Given the description of an element on the screen output the (x, y) to click on. 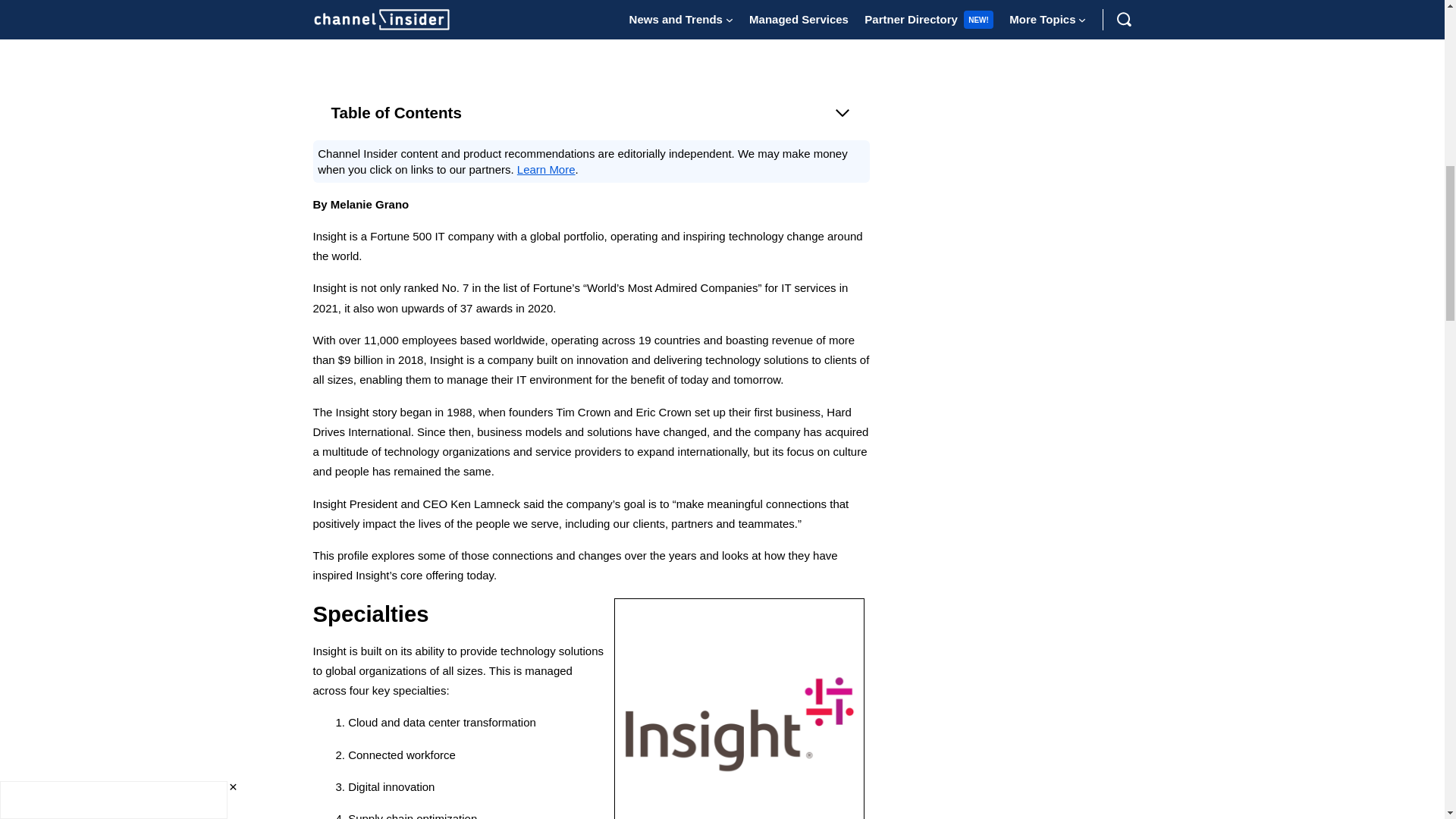
Table of Contents (591, 112)
Learn More (545, 169)
Insight Enterprises logo. Photo via fb.com. (739, 708)
Table of Contents (590, 113)
